Given the description of an element on the screen output the (x, y) to click on. 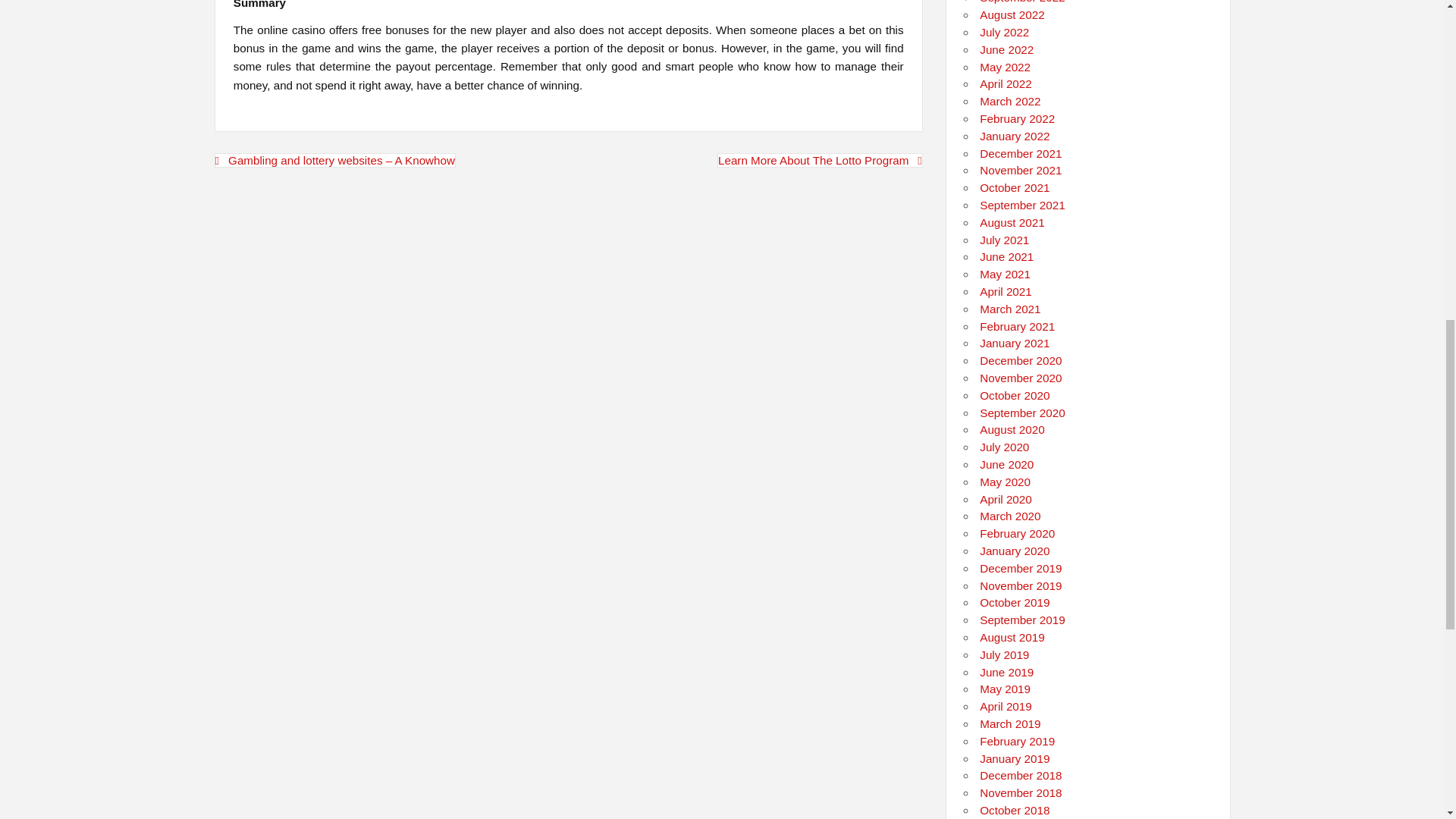
August 2022 (1011, 14)
Learn More About The Lotto Program (820, 160)
September 2022 (1021, 2)
April 2022 (1004, 83)
July 2022 (1004, 31)
June 2022 (1006, 49)
May 2022 (1004, 66)
